Given the description of an element on the screen output the (x, y) to click on. 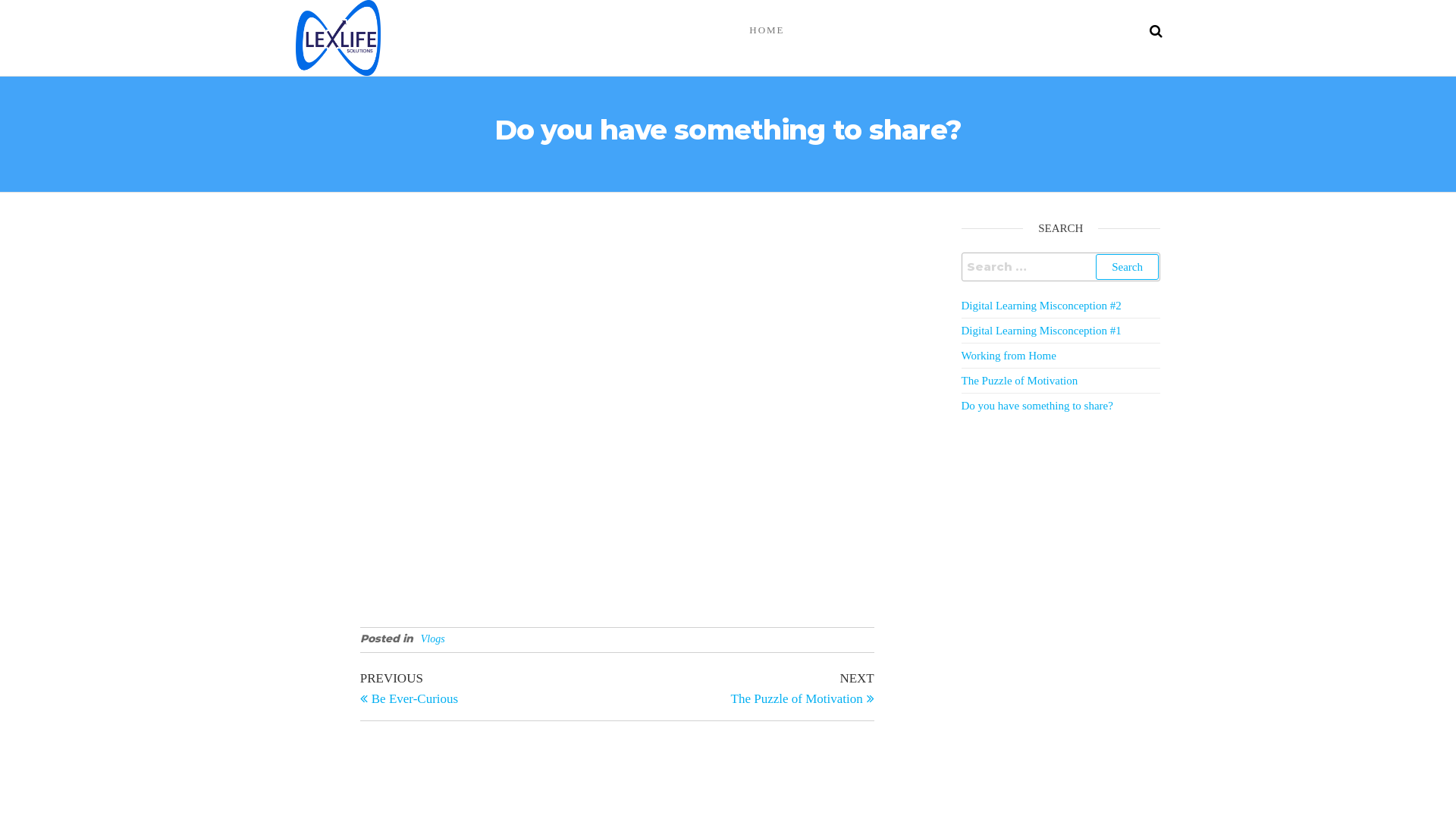
Working from Home Element type: text (1008, 355)
Previous Post
PREVIOUS
Be Ever-Curious Element type: text (488, 687)
Search Element type: text (1126, 266)
Digital Learning Misconception #2 Element type: text (1041, 305)
The Puzzle of Motivation Element type: text (1019, 380)
Vlogs Element type: text (432, 638)
Next Post
NEXT
The Puzzle of Motivation Element type: text (745, 687)
Digital Learning Misconception #1 Element type: text (1041, 330)
HOME Element type: text (766, 30)
LEXLIFE SOLUTIONS Element type: text (457, 62)
Do you have something to share? Element type: text (1037, 405)
